Given the description of an element on the screen output the (x, y) to click on. 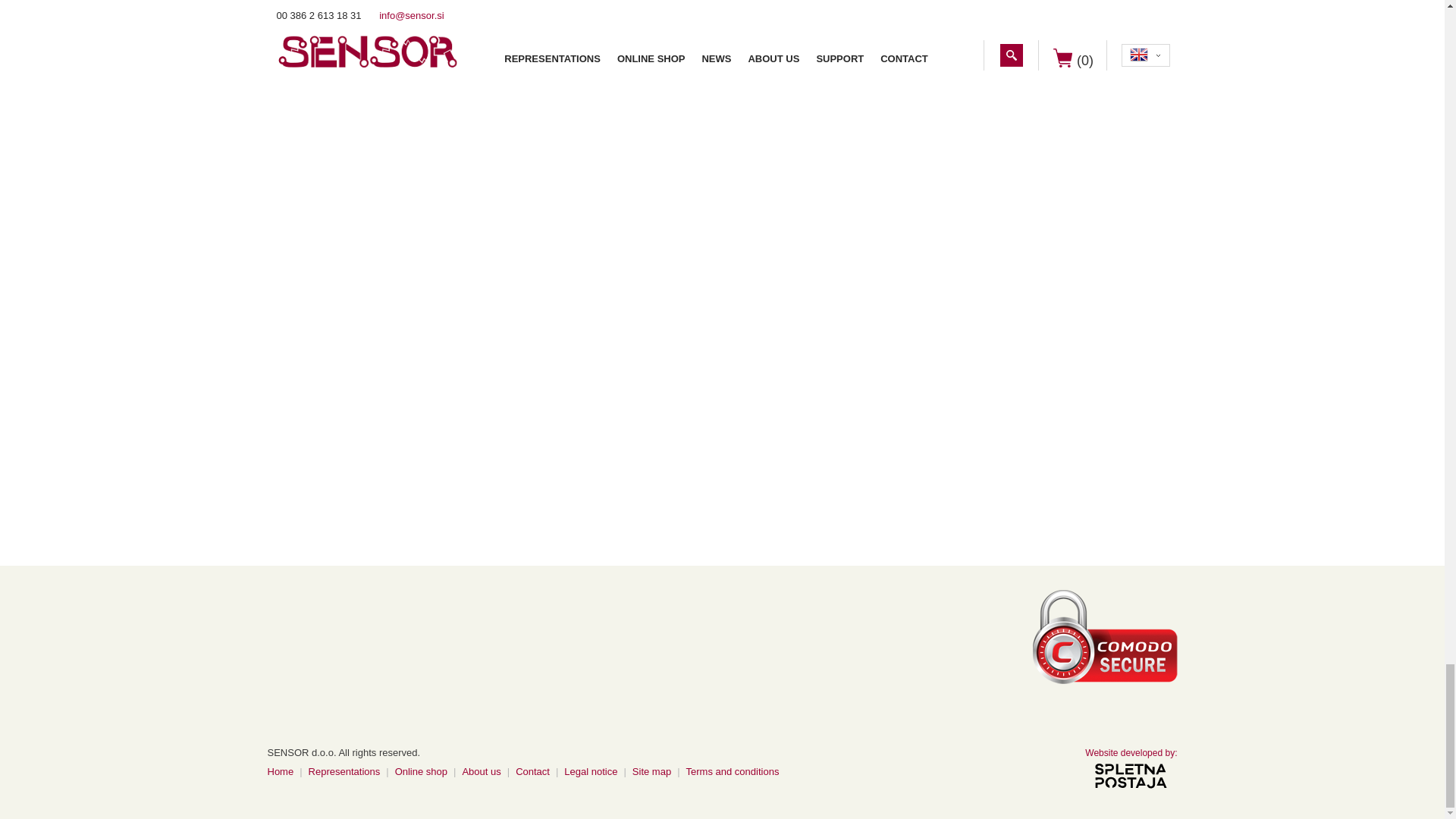
Contact (532, 771)
Izdelava spletnih strani - Spletna postaja (1130, 775)
Online shop (420, 771)
Izdelava spletnih strani - Spletna postaja (1130, 752)
Representations (344, 771)
Representations (344, 771)
About us (480, 771)
Legal notice (590, 771)
Contact (532, 771)
Site map (651, 771)
Comodo lock (1104, 633)
Home (280, 771)
Website developed by: (1130, 752)
Online shop (420, 771)
Terms and conditions (731, 771)
